Given the description of an element on the screen output the (x, y) to click on. 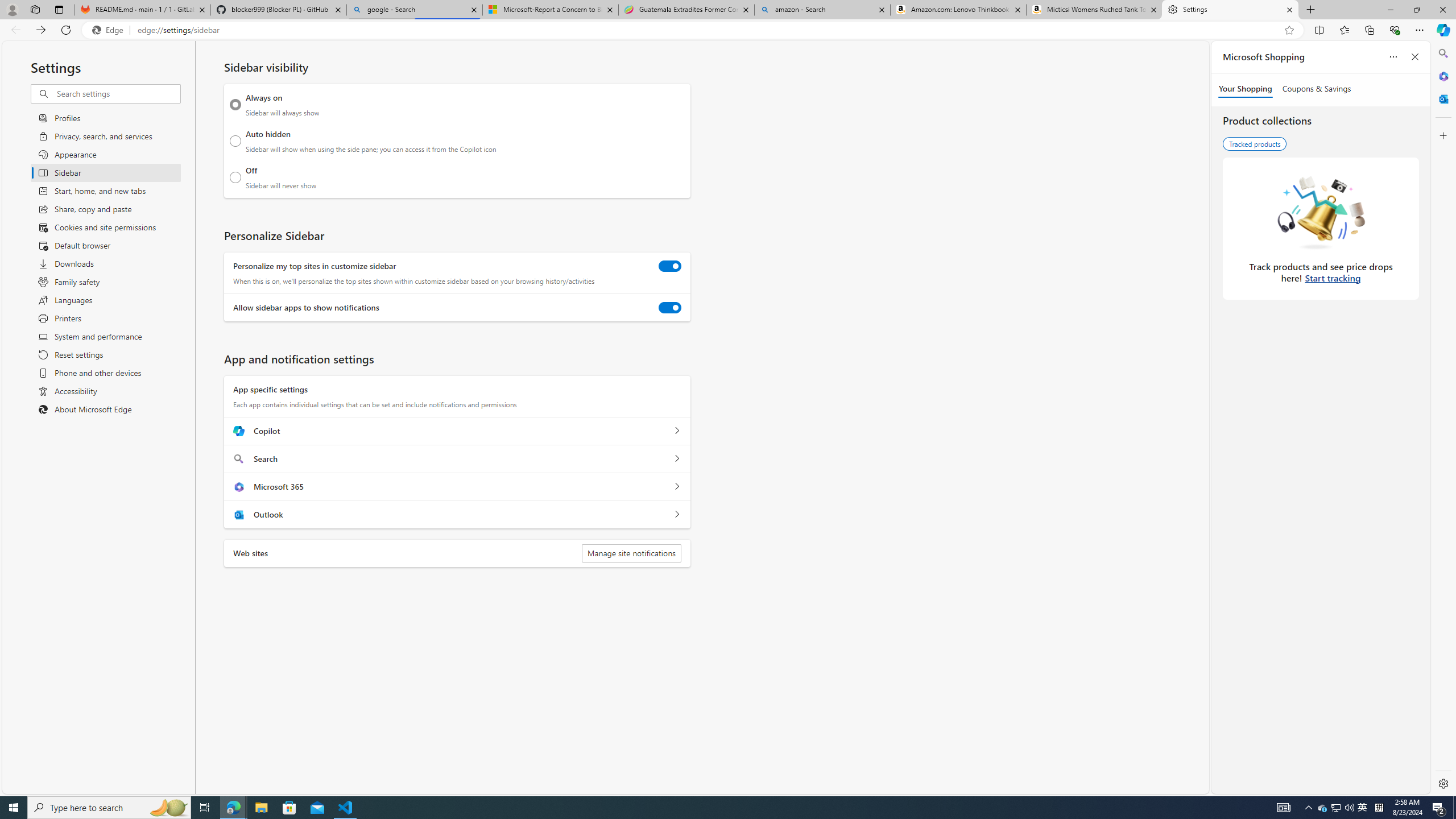
Allow sidebar apps to show notifications (669, 307)
Edge (110, 29)
amazon - Search (822, 9)
